Given the description of an element on the screen output the (x, y) to click on. 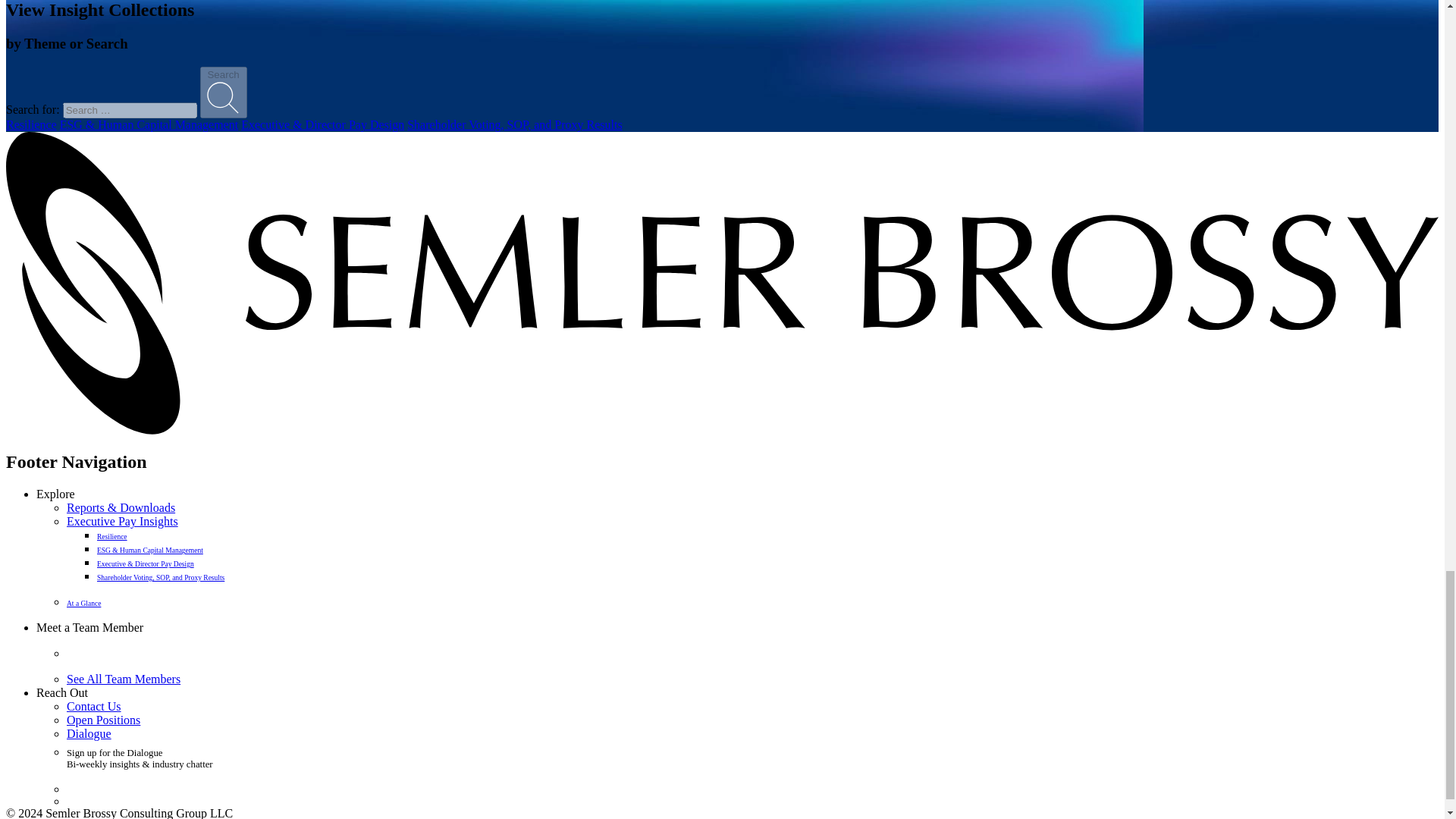
Search for: (129, 109)
dialogue (89, 732)
